Given the description of an element on the screen output the (x, y) to click on. 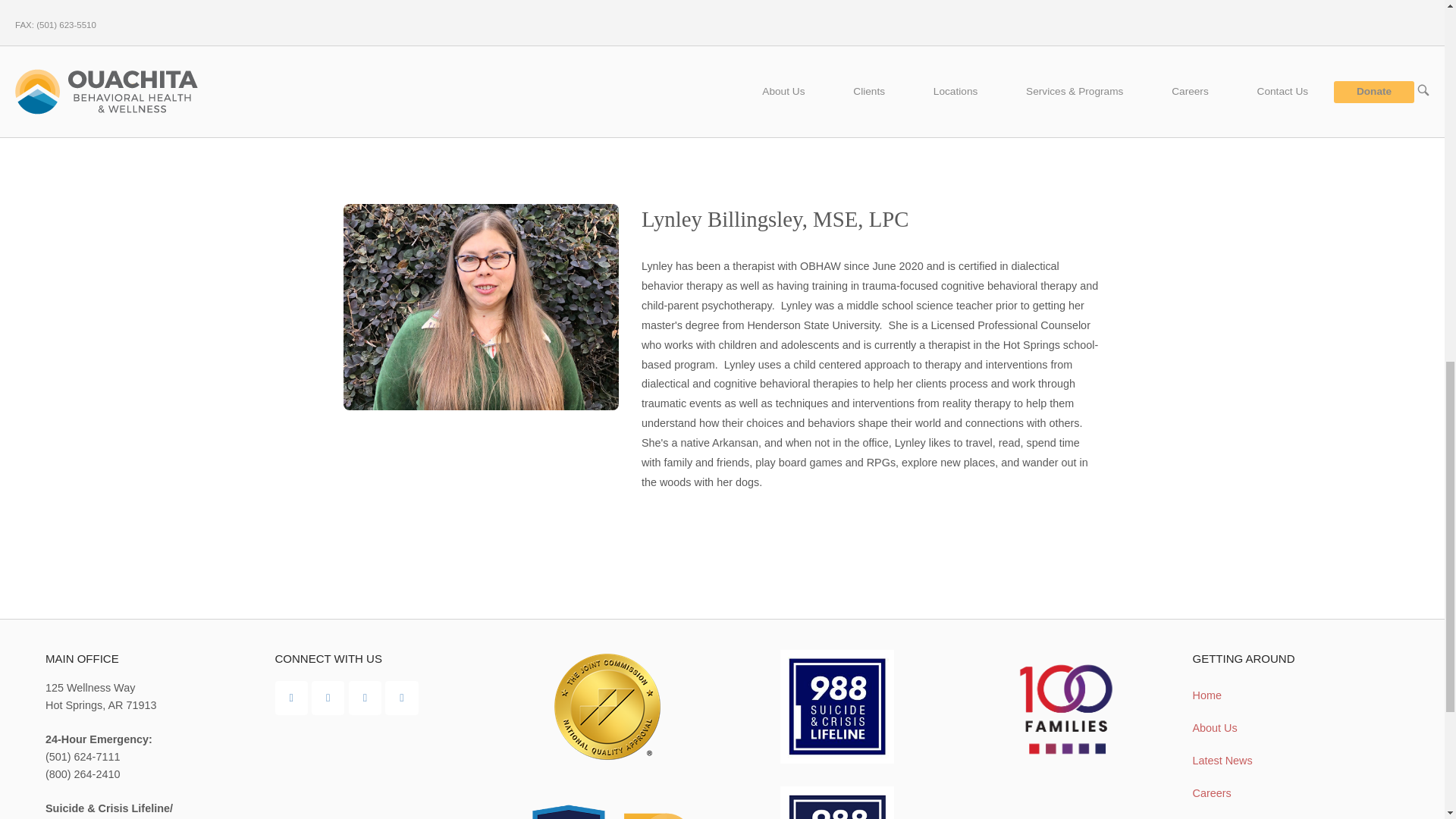
Locations (955, 91)
100 Families Logo Color image (1065, 709)
Home (106, 91)
Clients (868, 91)
Ouachita Behavioral Health and Wellness on Instagram (365, 697)
Ouachita Behavioral Health and Wellness on Facebook (291, 697)
Ouachita Behavioral Health and Wellness on Youtube (327, 697)
Ouachita Behavioral Health and Wellness on X Twitter (401, 697)
About Us (783, 91)
